Given the description of an element on the screen output the (x, y) to click on. 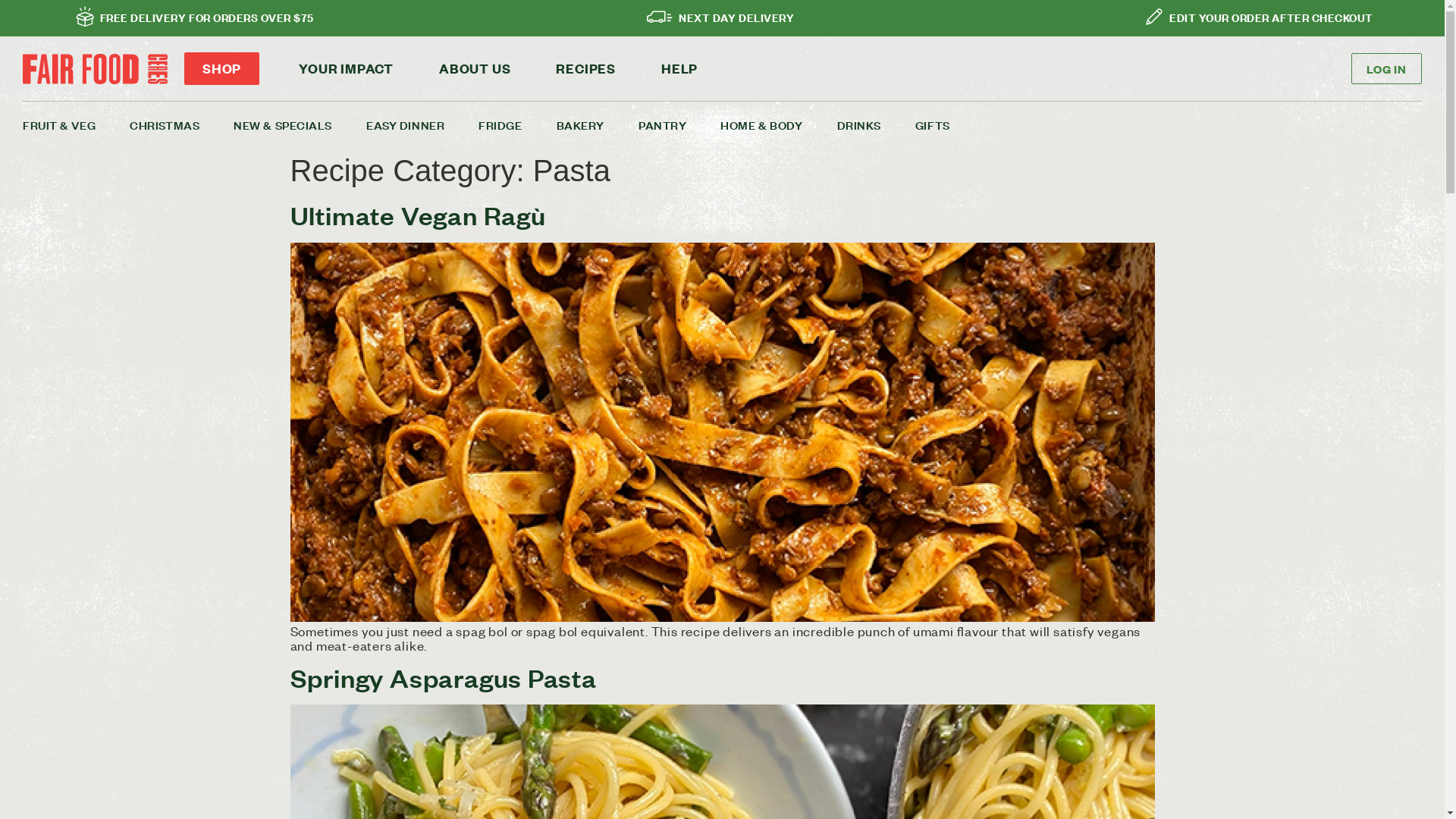
LOG IN Element type: text (1386, 68)
FRUIT & VEG Element type: text (75, 124)
NEXT DAY DELIVERY Element type: text (735, 16)
FRIDGE Element type: text (516, 124)
HOME & BODY Element type: text (778, 124)
GIFTS Element type: text (949, 124)
ABOUT US Element type: text (474, 68)
HELP Element type: text (679, 68)
PANTRY Element type: text (679, 124)
RECIPES Element type: text (585, 68)
EDIT YOUR ORDER AFTER CHECKOUT Element type: text (1271, 16)
BAKERY Element type: text (597, 124)
FREE DELIVERY FOR ORDERS OVER $75 Element type: text (206, 16)
EASY DINNER Element type: text (422, 124)
CHRISTMAS Element type: text (181, 124)
SHOP Element type: text (221, 68)
NEW & SPECIALS Element type: text (299, 124)
Springy Asparagus Pasta Element type: text (442, 677)
YOUR IMPACT Element type: text (345, 68)
DRINKS Element type: text (876, 124)
